Given the description of an element on the screen output the (x, y) to click on. 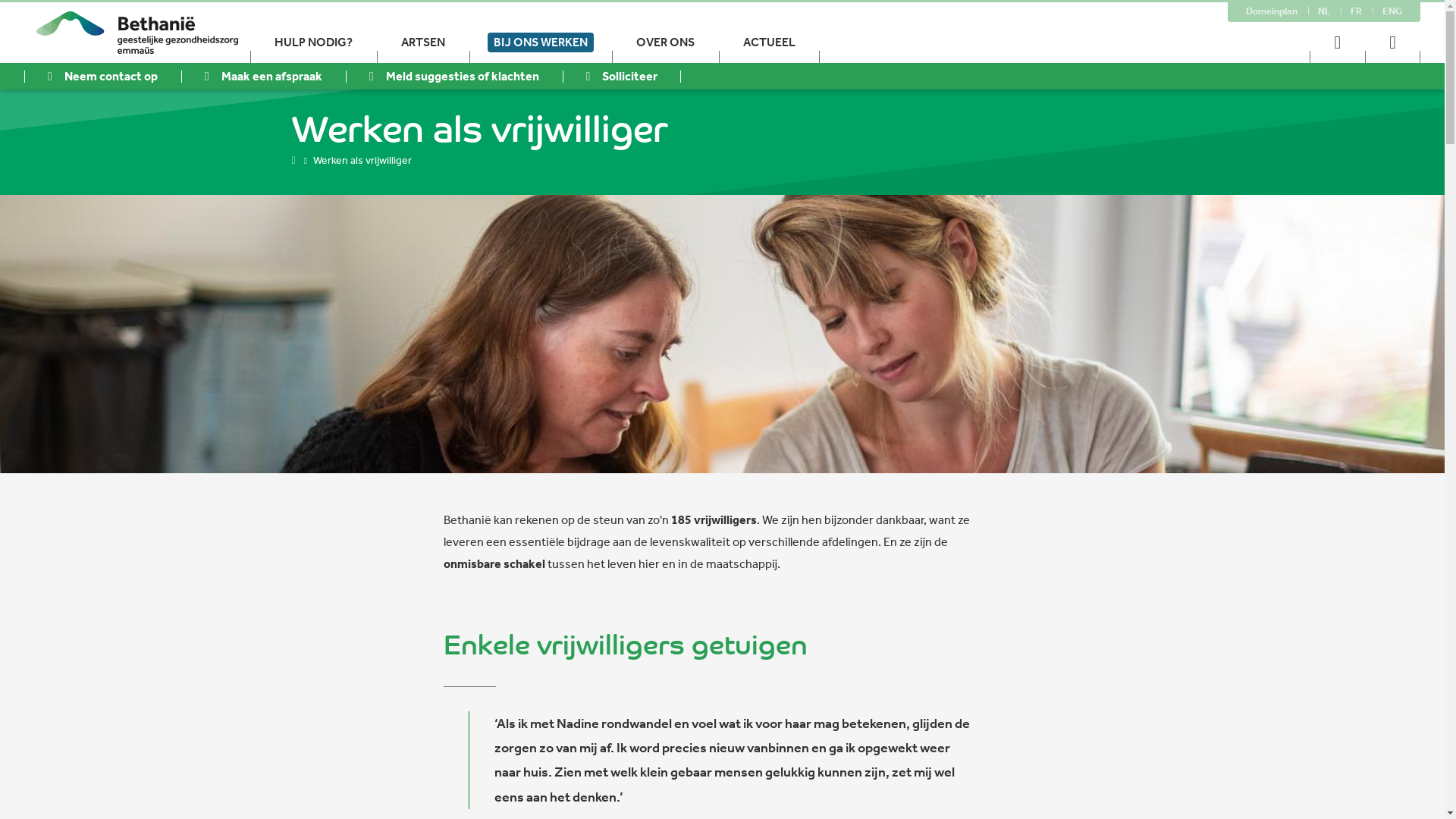
Maak een afspraak Element type: text (263, 75)
BIJ ONS WERKEN Element type: text (540, 41)
Neem contact op Element type: text (102, 75)
ENG Element type: text (1392, 10)
FR Element type: text (1355, 10)
OVER ONS Element type: text (664, 41)
NL Element type: text (1323, 10)
Meld suggesties of klachten Element type: text (454, 75)
ACTUEEL Element type: text (768, 41)
Solliciteer Element type: text (621, 75)
Domeinplan Element type: text (1271, 10)
Search menu Element type: text (1392, 41)
ARTSEN Element type: text (422, 41)
User menu Element type: text (1337, 41)
HULP NODIG? Element type: text (313, 41)
Home Element type: text (294, 159)
